Given the description of an element on the screen output the (x, y) to click on. 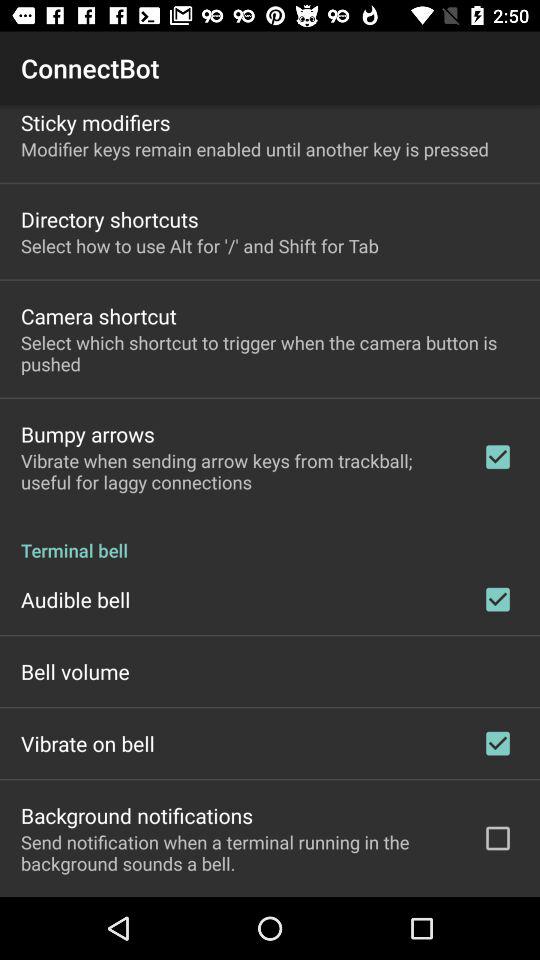
turn off item above the select how to (109, 219)
